Given the description of an element on the screen output the (x, y) to click on. 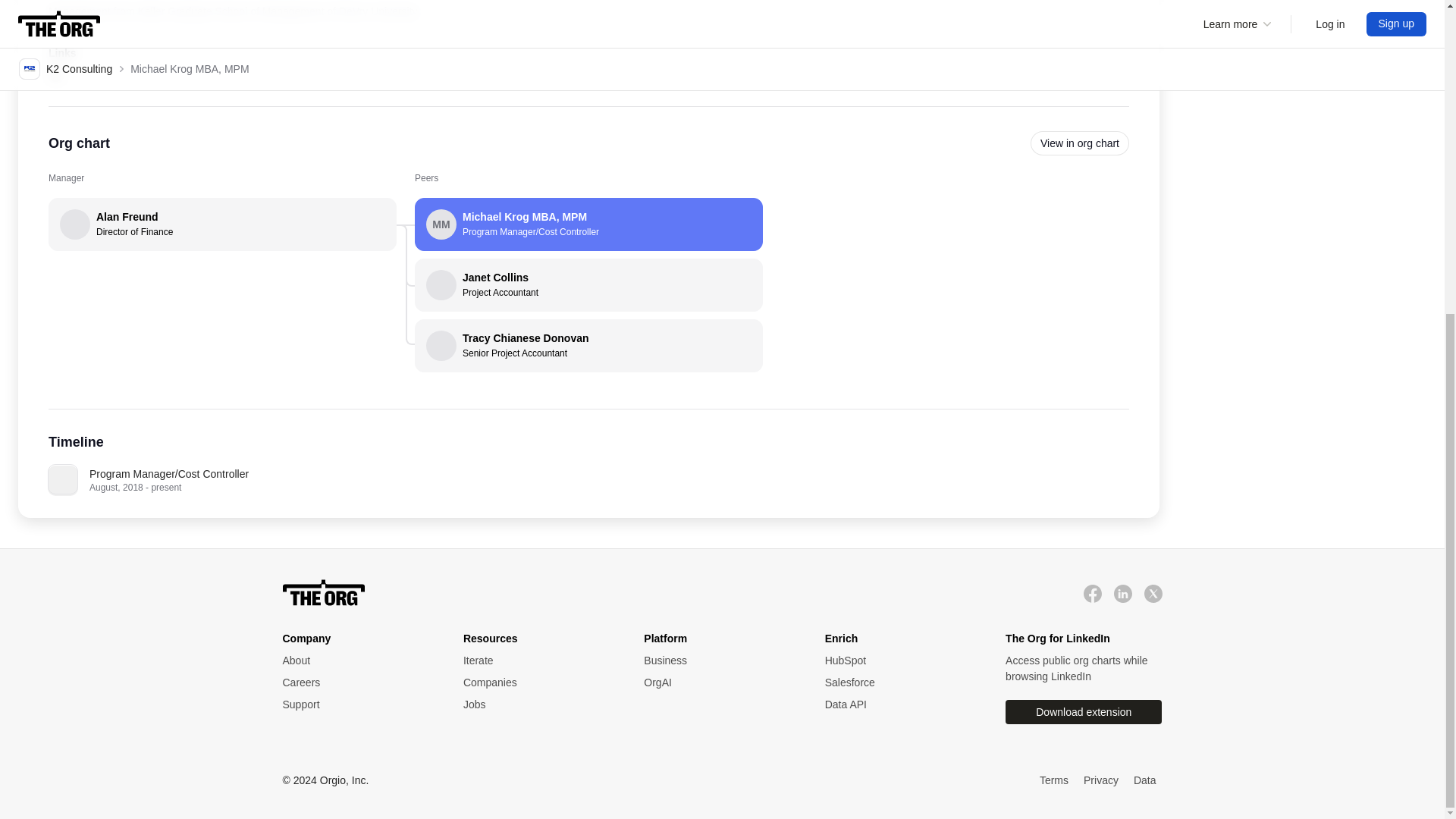
Privacy (1100, 780)
Salesforce (900, 682)
View on linkedIn (588, 285)
Careers (55, 73)
Companies (357, 682)
Data API (537, 682)
Salesforce (900, 704)
About (900, 682)
Careers (357, 660)
Jobs (357, 682)
Terms (537, 704)
Business (1053, 780)
The Org logo (718, 660)
